Given the description of an element on the screen output the (x, y) to click on. 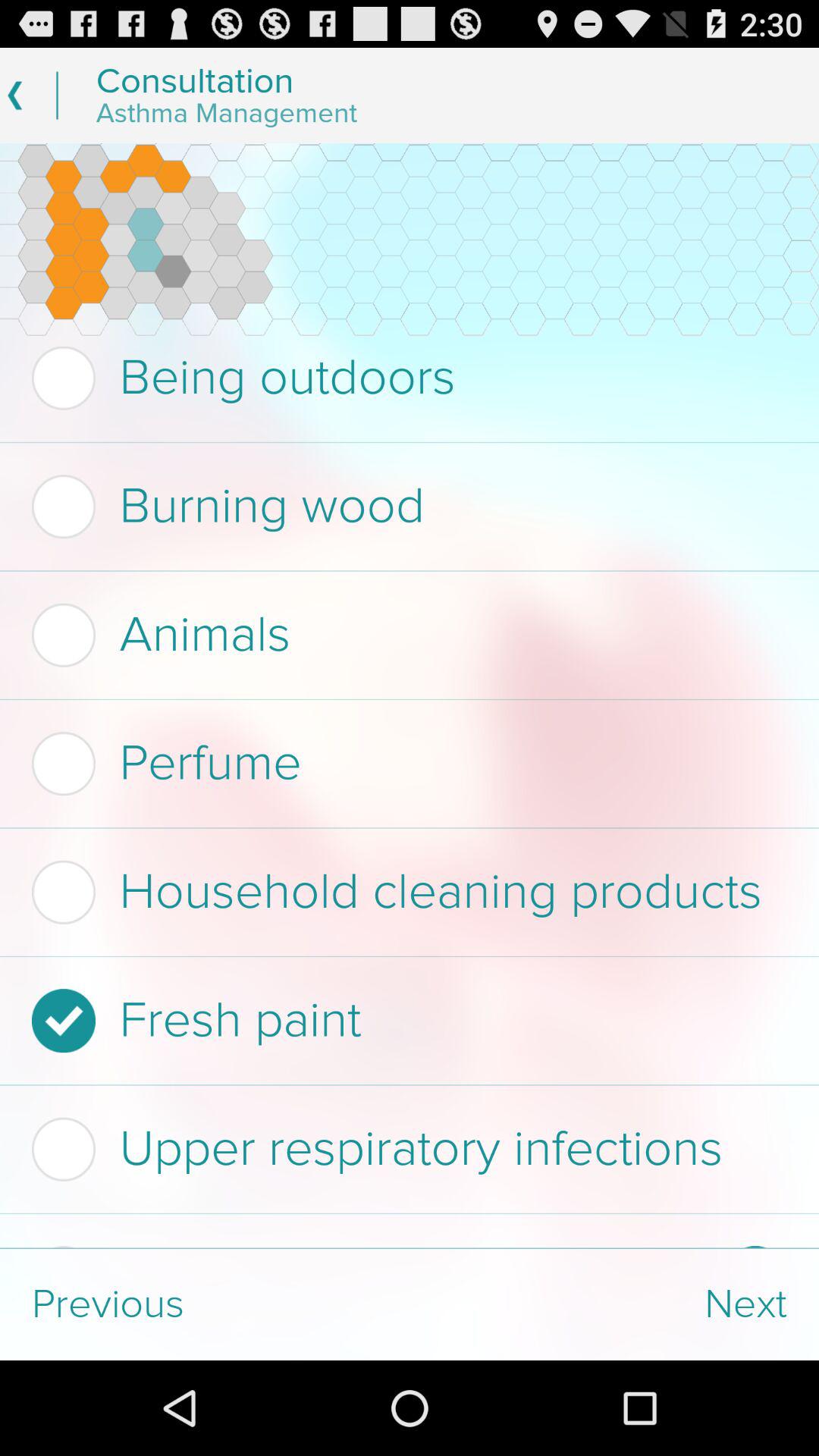
jump until the perfume checkbox (405, 763)
